Given the description of an element on the screen output the (x, y) to click on. 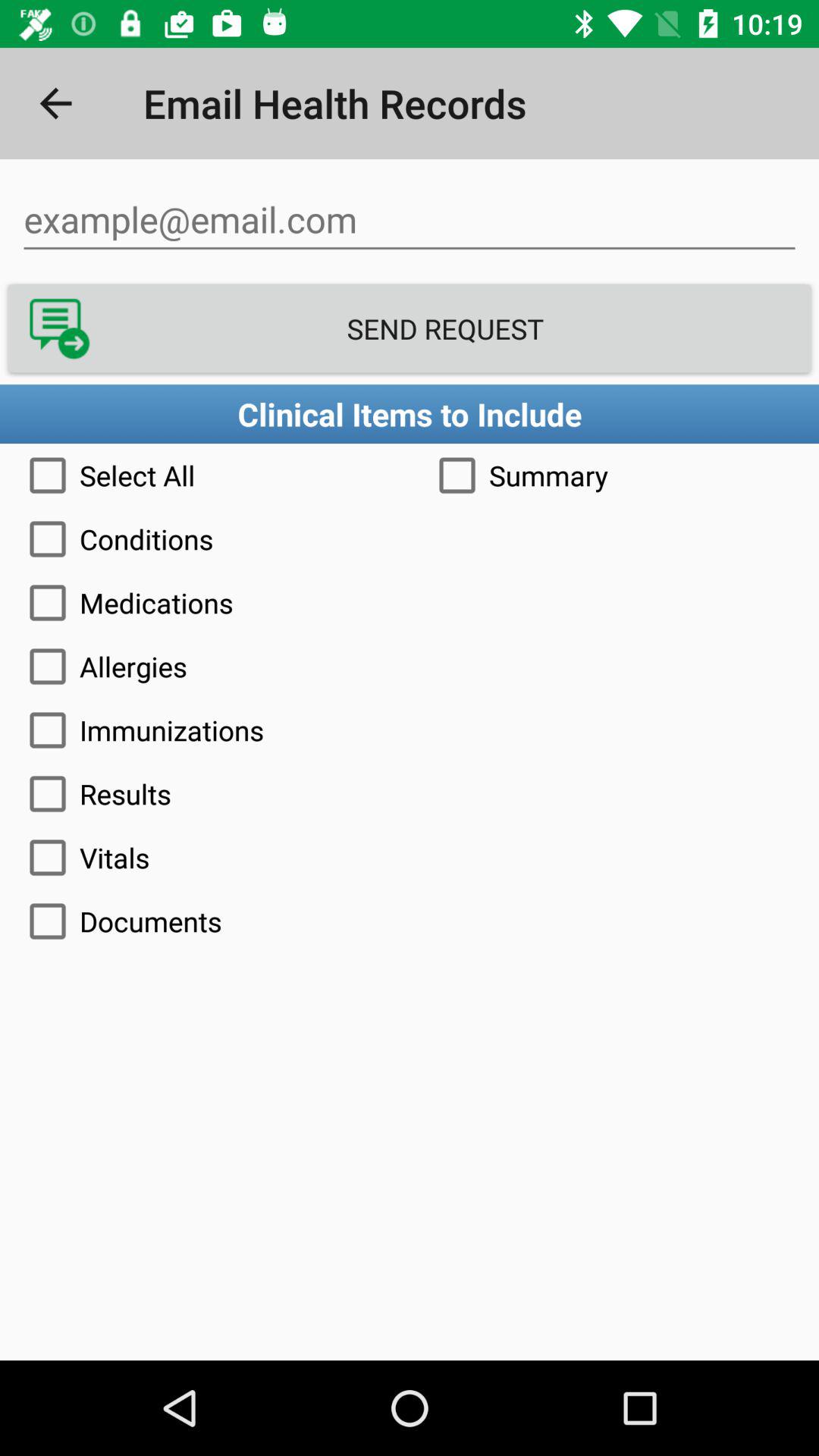
scroll to select all icon (204, 475)
